Given the description of an element on the screen output the (x, y) to click on. 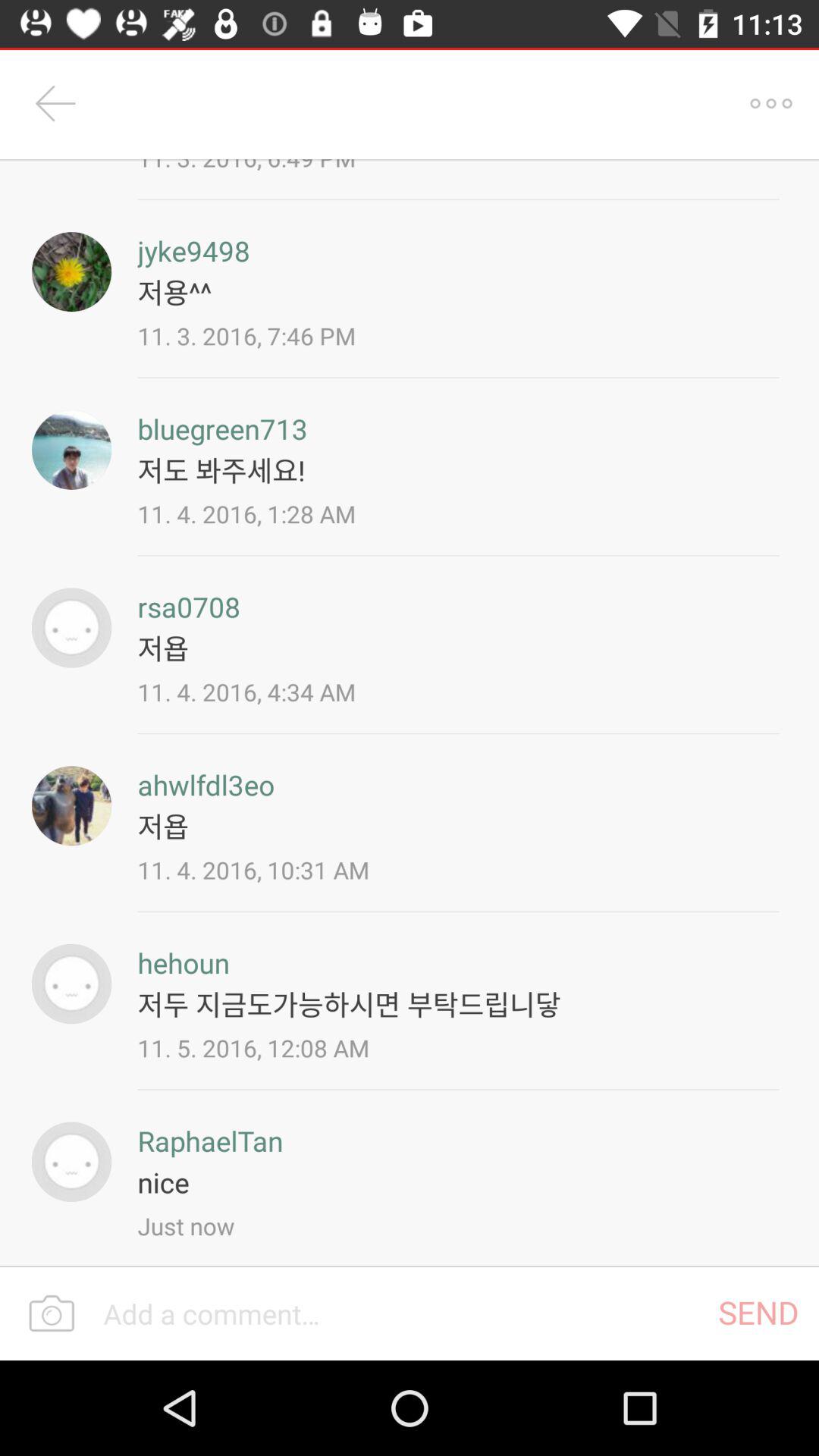
press item to the left of 11 3 2016 icon (55, 103)
